Given the description of an element on the screen output the (x, y) to click on. 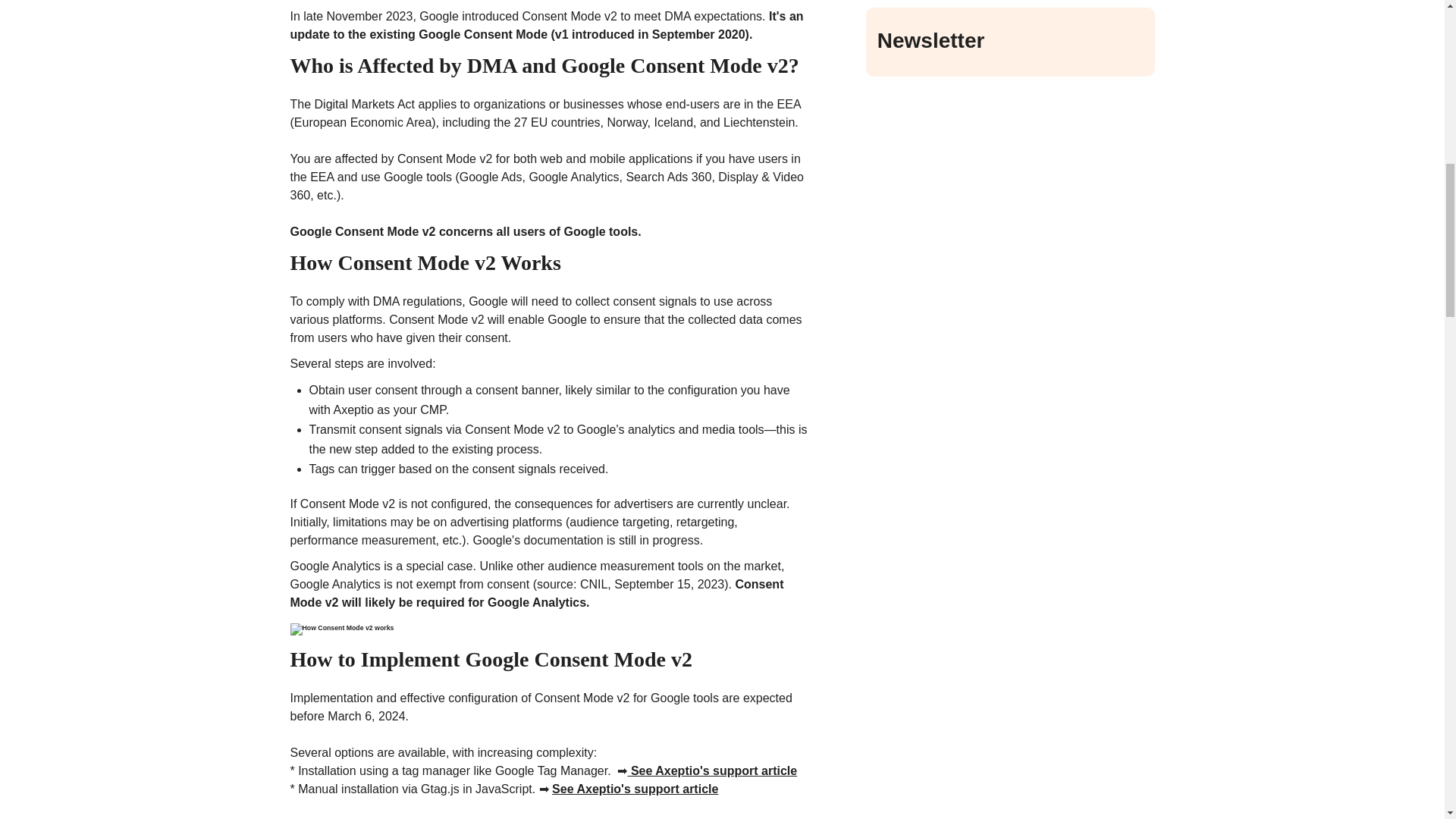
See Axeptio's support article (711, 770)
See Axeptio's support article (634, 788)
